Given the description of an element on the screen output the (x, y) to click on. 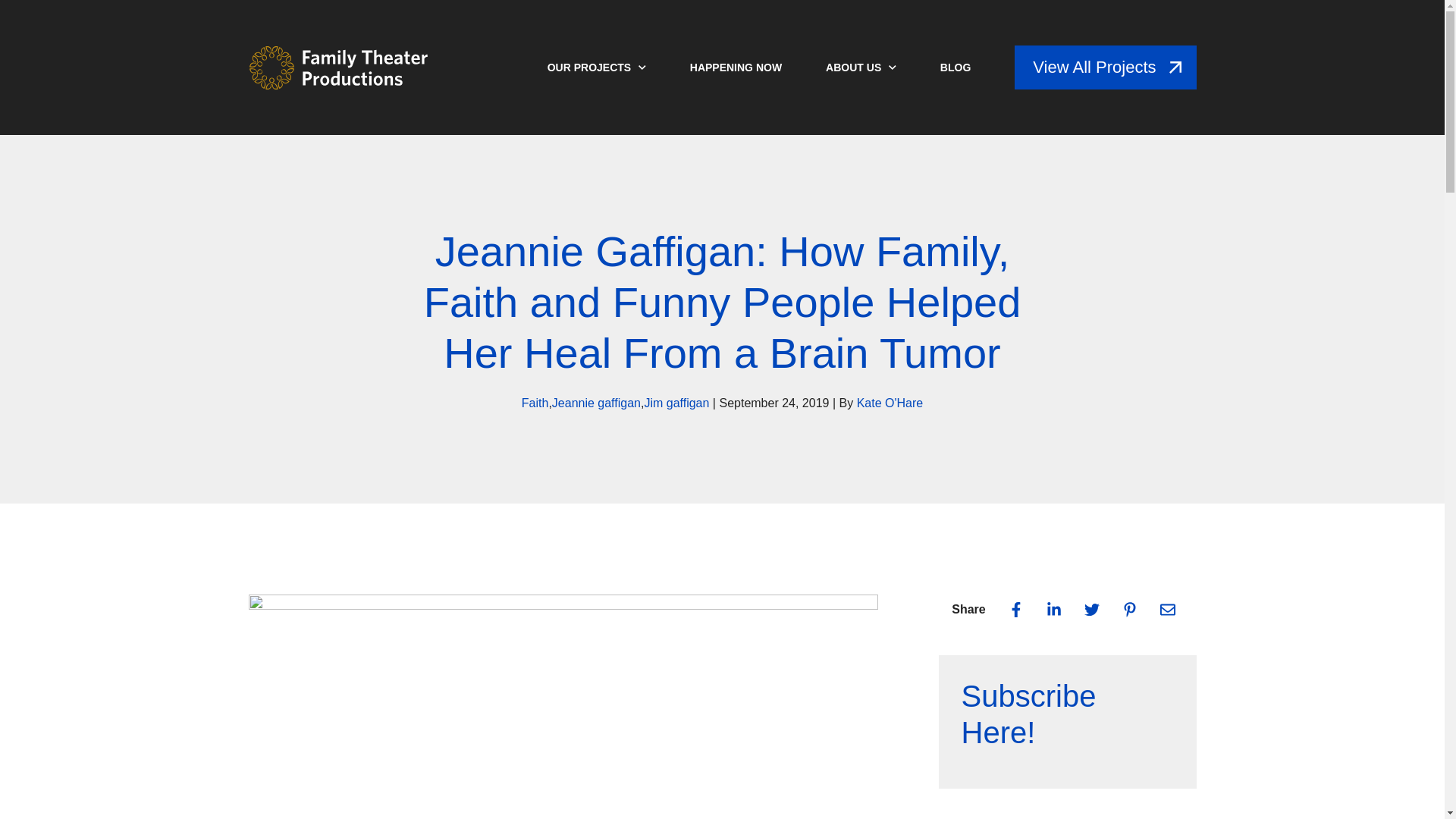
OUR PROJECTS (596, 67)
HAPPENING NOW (735, 67)
Faith (534, 402)
Kate O'Hare (890, 402)
BLOG (955, 67)
Jeannie gaffigan (595, 402)
View All Projects (1104, 67)
Family Theater Productions (338, 66)
ABOUT US (860, 67)
Jim gaffigan (676, 402)
